Given the description of an element on the screen output the (x, y) to click on. 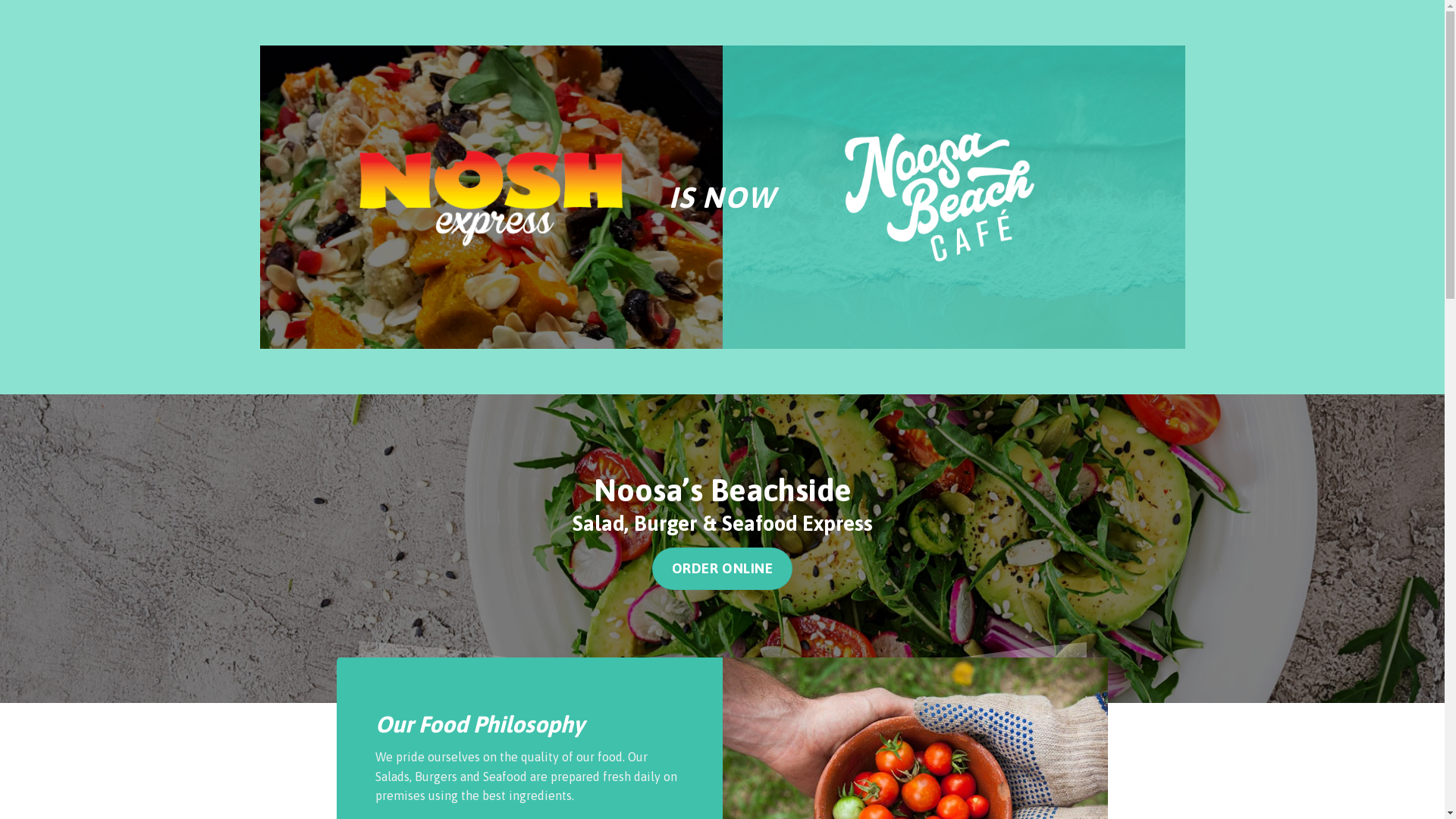
ORDER ONLINE Element type: text (722, 568)
